Given the description of an element on the screen output the (x, y) to click on. 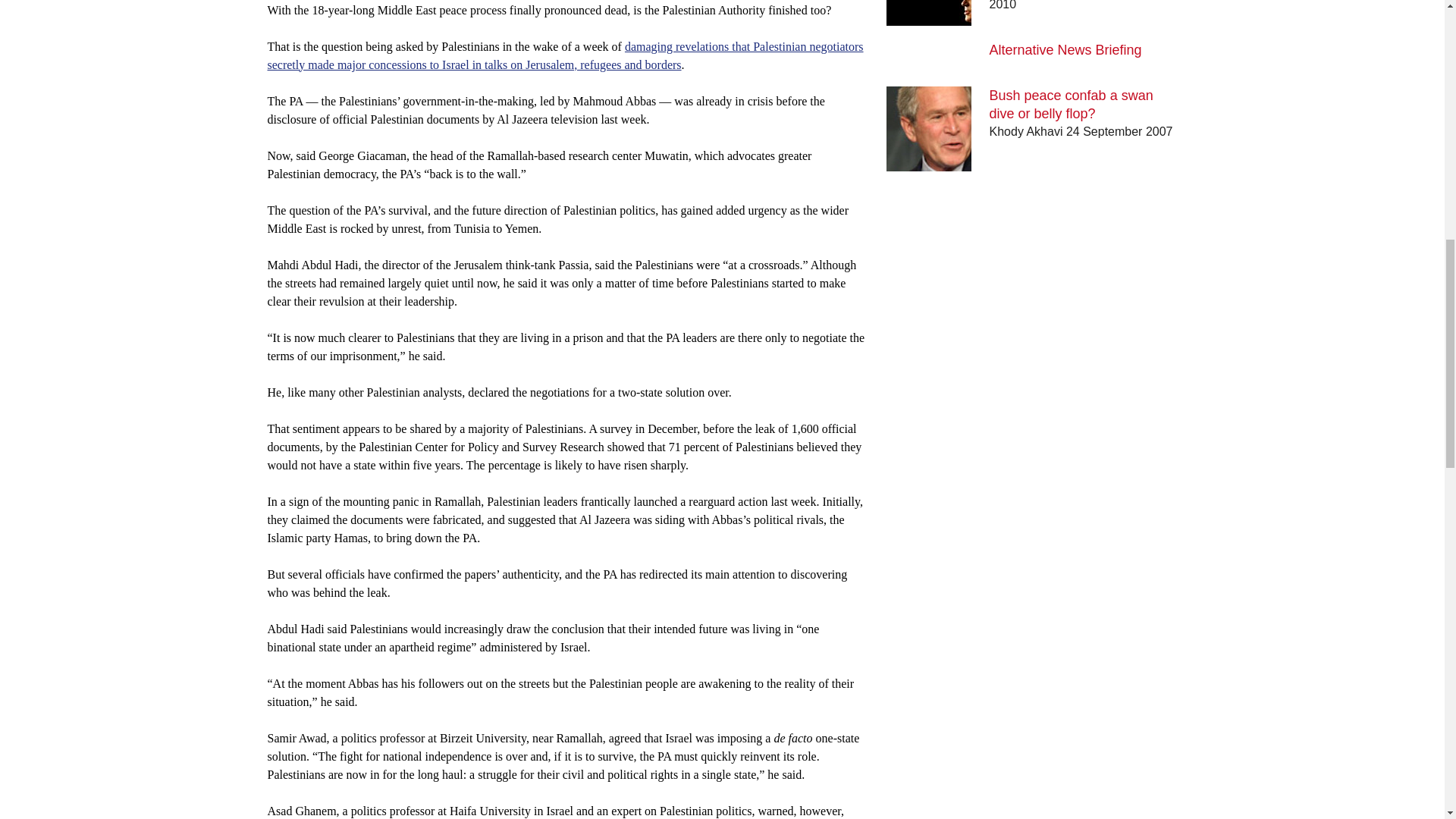
Bush peace confab a swan dive or belly flop? (1071, 104)
Alternative News Briefing (1065, 49)
